Given the description of an element on the screen output the (x, y) to click on. 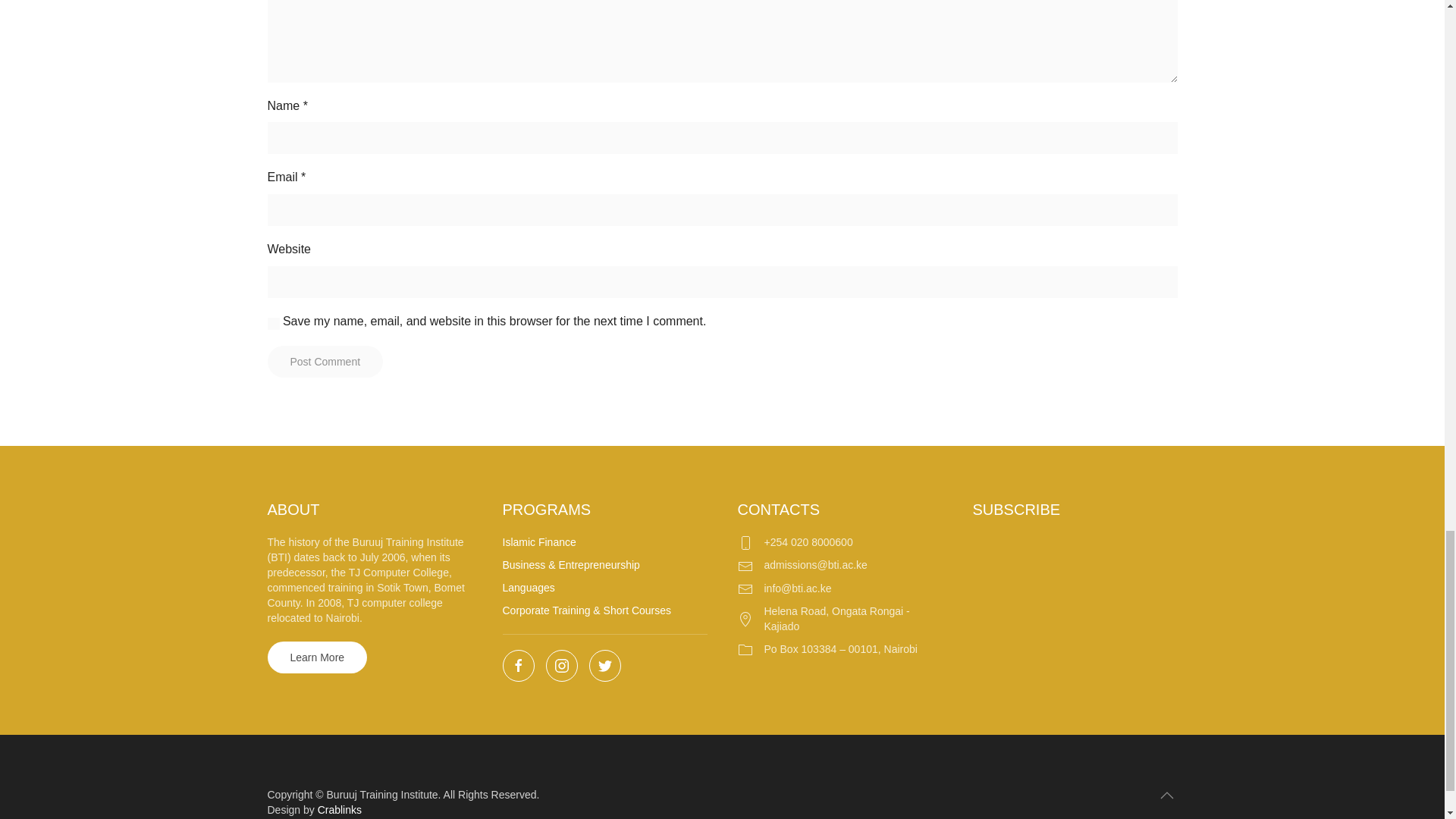
yes (272, 323)
